Given the description of an element on the screen output the (x, y) to click on. 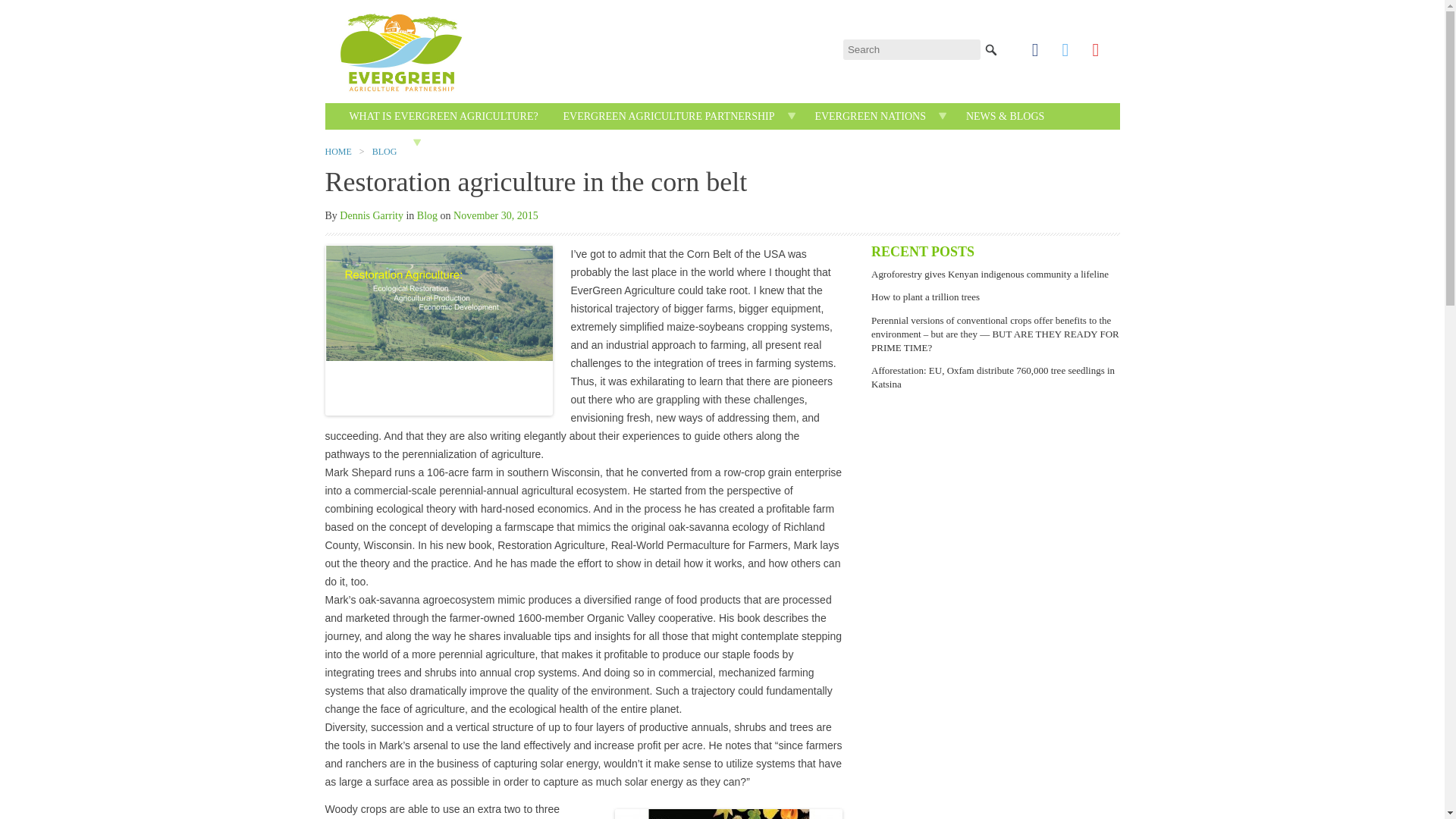
Skip to content (757, 110)
CONTACT US (472, 143)
EVERGREEN NATIONS (869, 116)
5:29 pm (495, 215)
Blog (427, 215)
EVERGREEN AGRICULTURE PARTNERSHIP (669, 116)
Skip to content (757, 110)
BLOG (384, 151)
HOME (362, 139)
WHAT IS EVERGREEN AGRICULTURE? (442, 116)
